Given the description of an element on the screen output the (x, y) to click on. 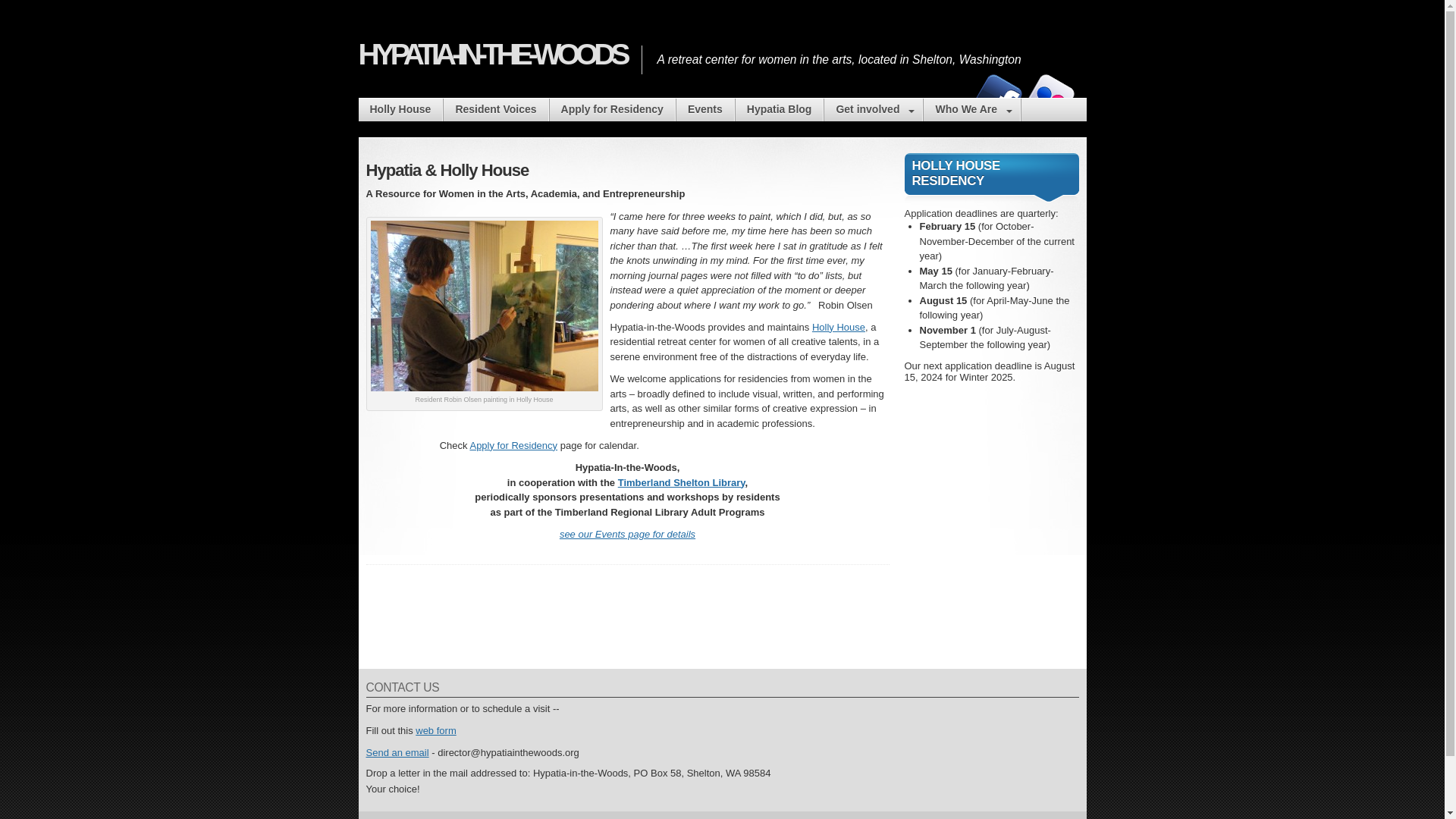
Apply for Residency (512, 445)
Hypatia Blog (779, 109)
Holly House (838, 326)
Send an email (396, 752)
undefined (1050, 97)
Events (705, 109)
Resident Voices (495, 109)
web form (434, 730)
Apply for Residency (612, 109)
see our Events page for details (627, 533)
HYPATIA-IN-THE-WOODS (872, 109)
Holly House (492, 54)
Holly House (400, 109)
